Given the description of an element on the screen output the (x, y) to click on. 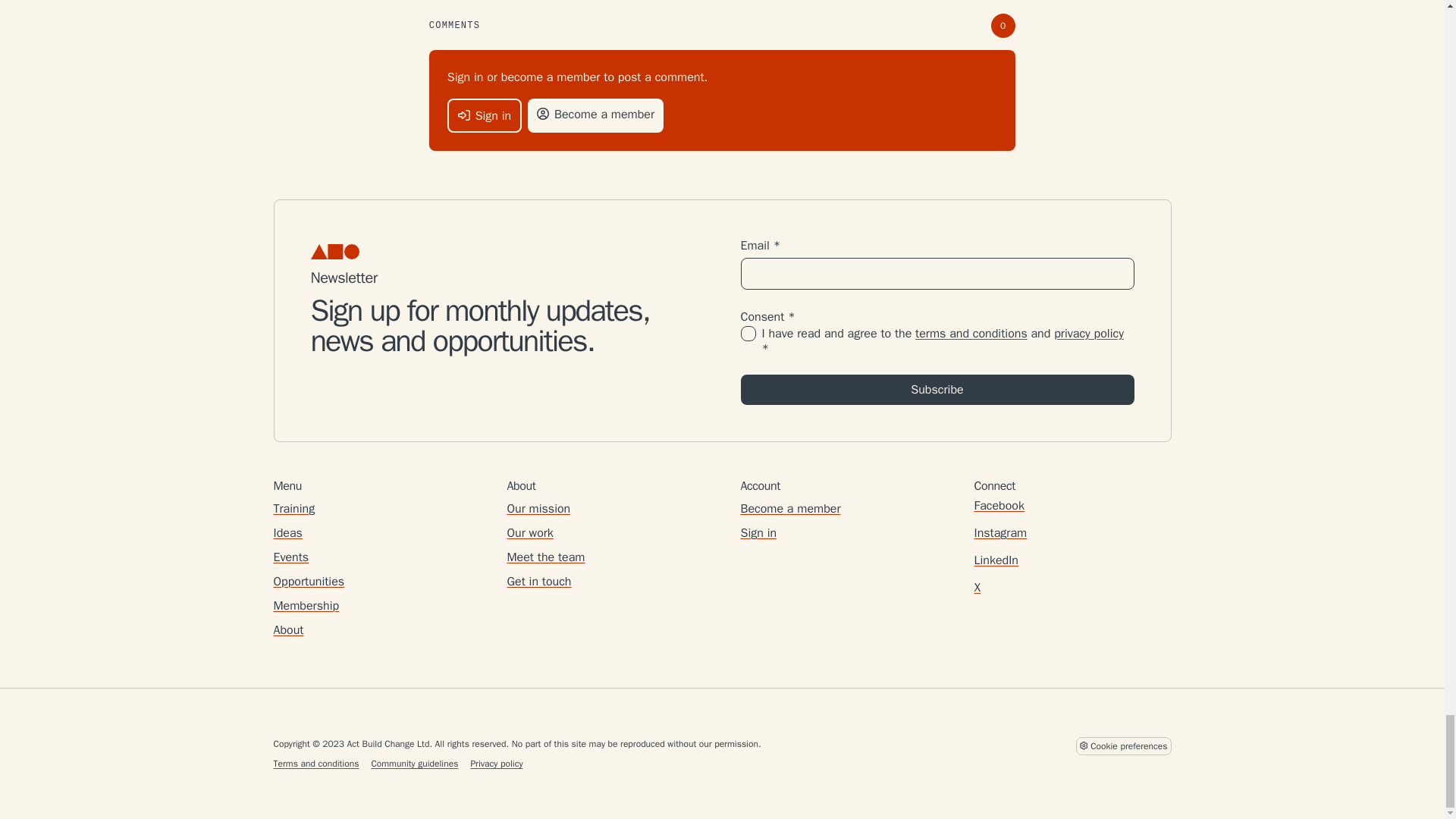
Privacy policy (496, 763)
Subscribe (936, 389)
Meet the team (545, 557)
Sign in (757, 532)
Sign in (483, 115)
Terms and conditions (315, 763)
Facebook (998, 505)
Instagram (1000, 532)
Training (293, 508)
privacy policy (1089, 333)
